Given the description of an element on the screen output the (x, y) to click on. 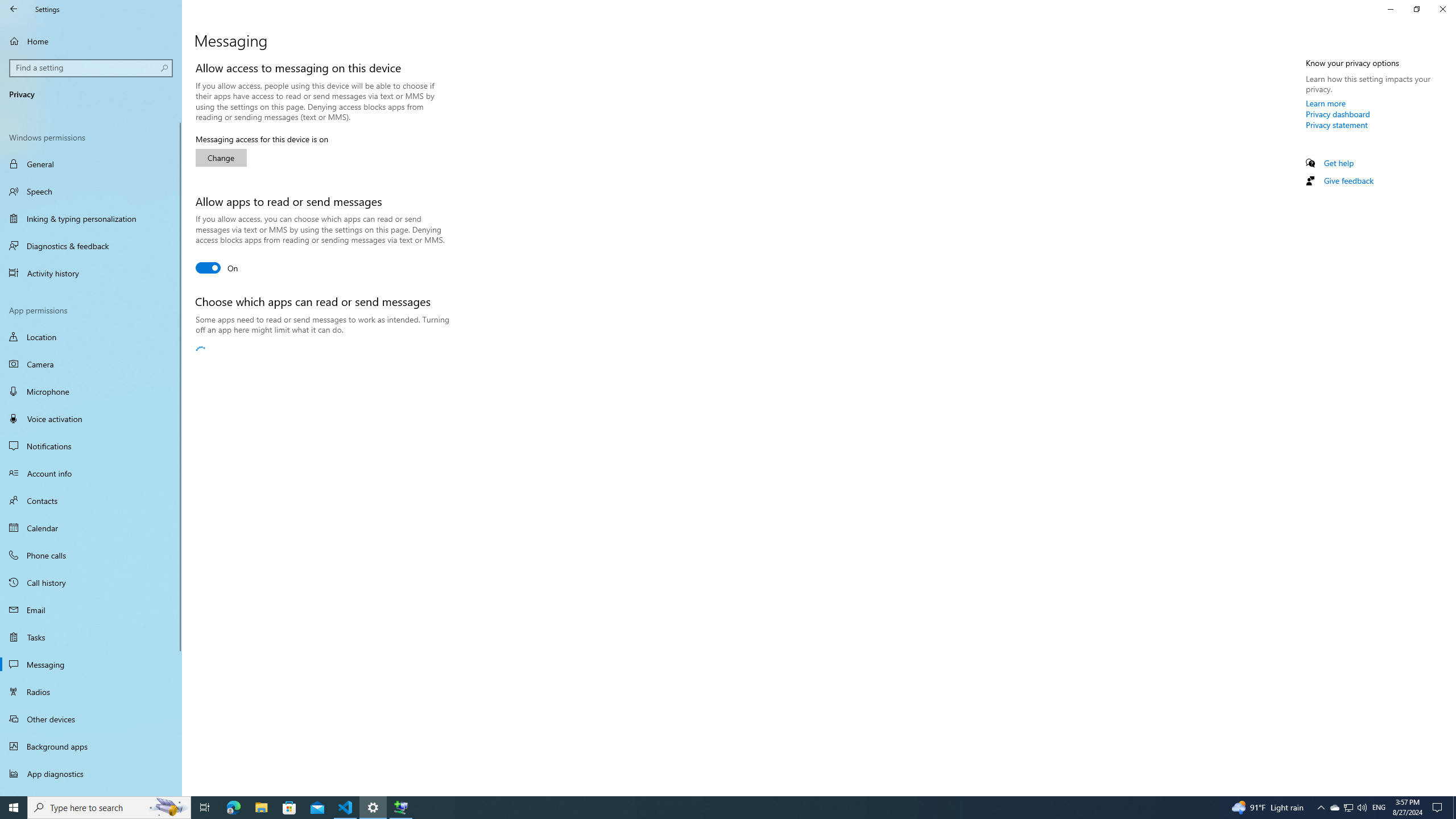
People (384, 352)
Phone calls (91, 554)
Allow apps to read or send messages (216, 267)
Speech (91, 190)
Account info (91, 472)
Radios (91, 691)
Notifications (91, 445)
Voice activation (91, 418)
Tasks (91, 636)
